Given the description of an element on the screen output the (x, y) to click on. 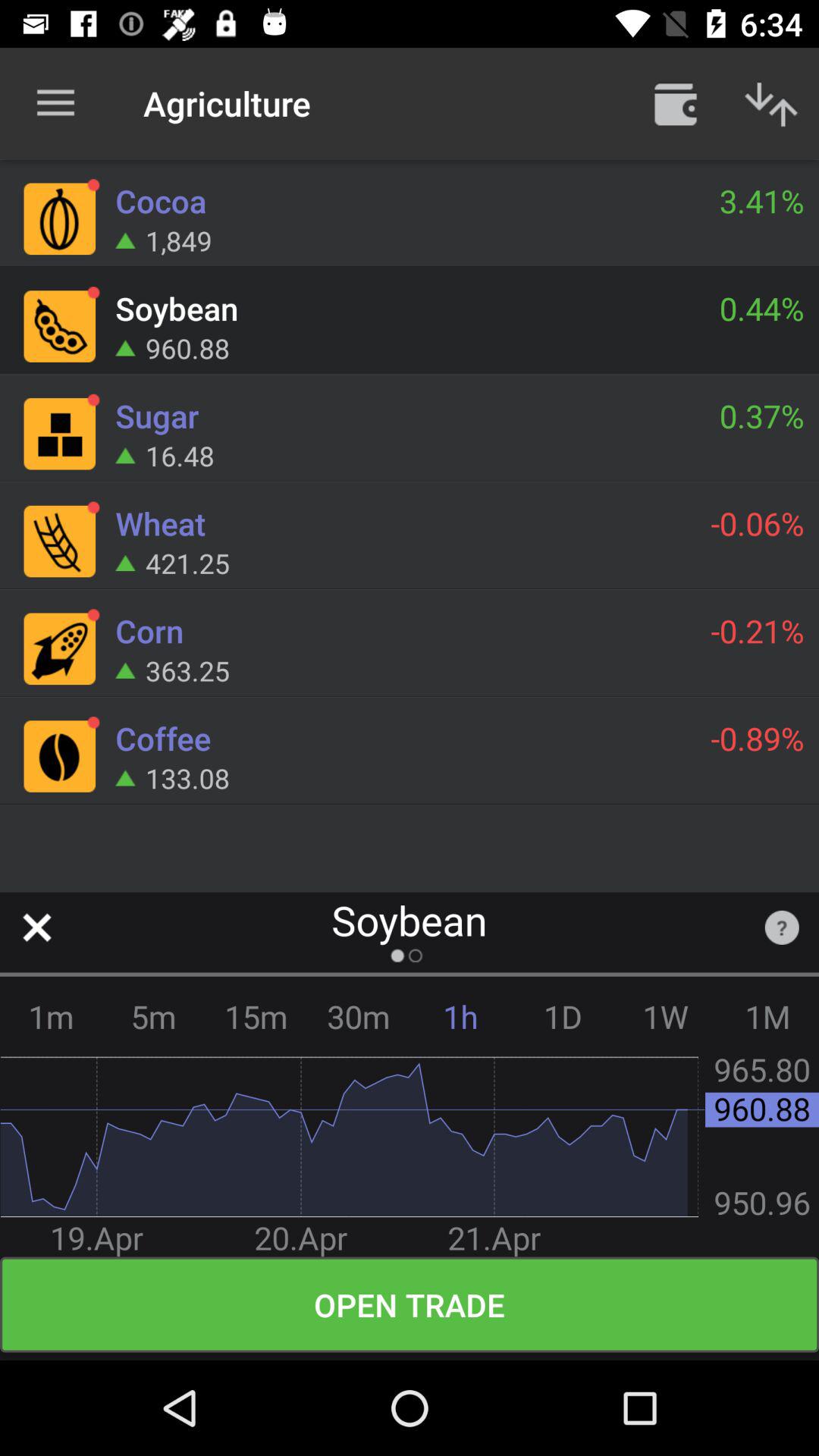
organize and find folders (675, 103)
